Given the description of an element on the screen output the (x, y) to click on. 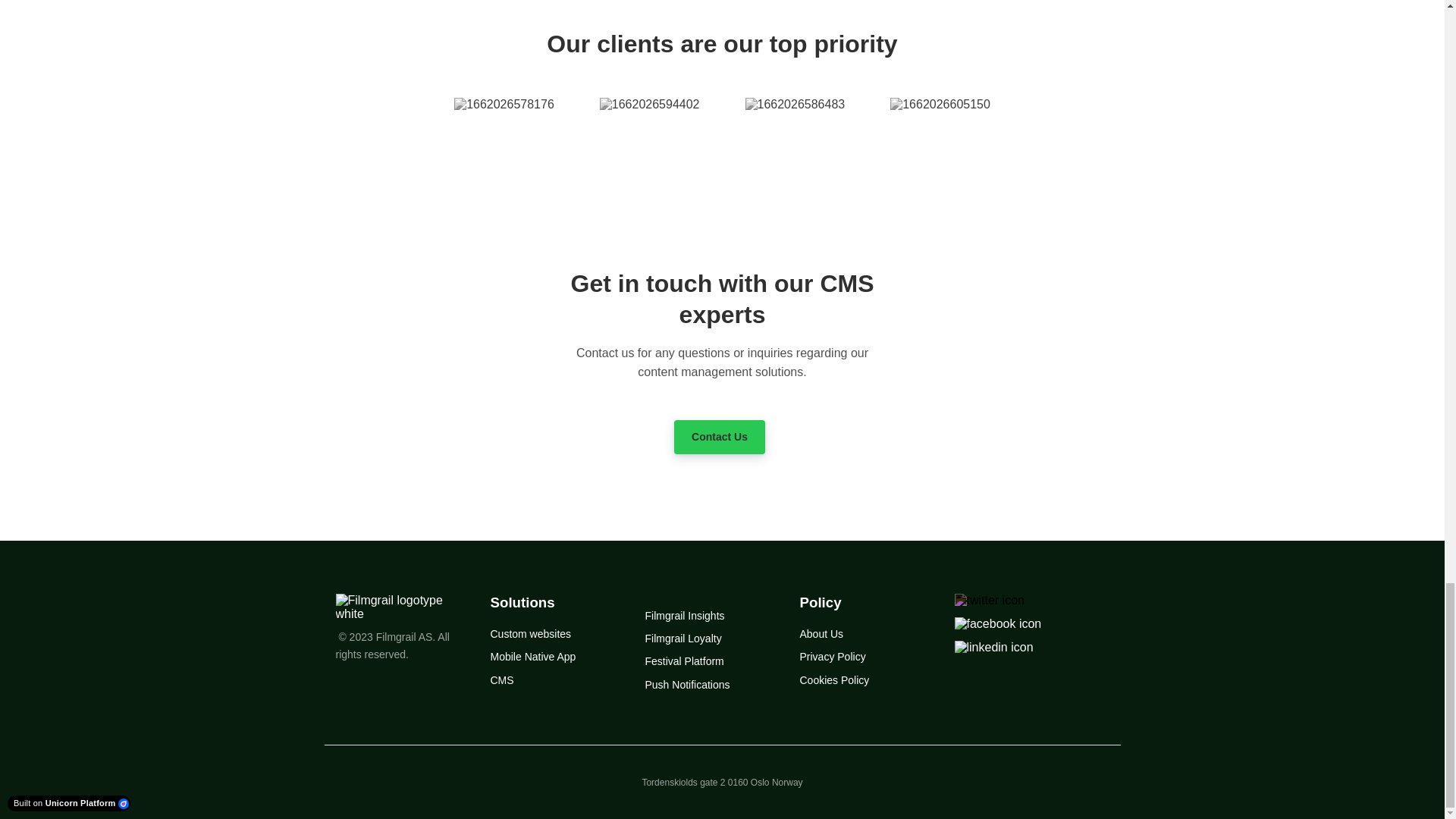
CMS (501, 680)
Contact Us (719, 437)
Mobile Native App (532, 656)
Custom websites (529, 633)
Push Notifications (687, 684)
Filmgrail Loyalty (682, 638)
Filmgrail Insights (684, 615)
Festival Platform (684, 661)
